Given the description of an element on the screen output the (x, y) to click on. 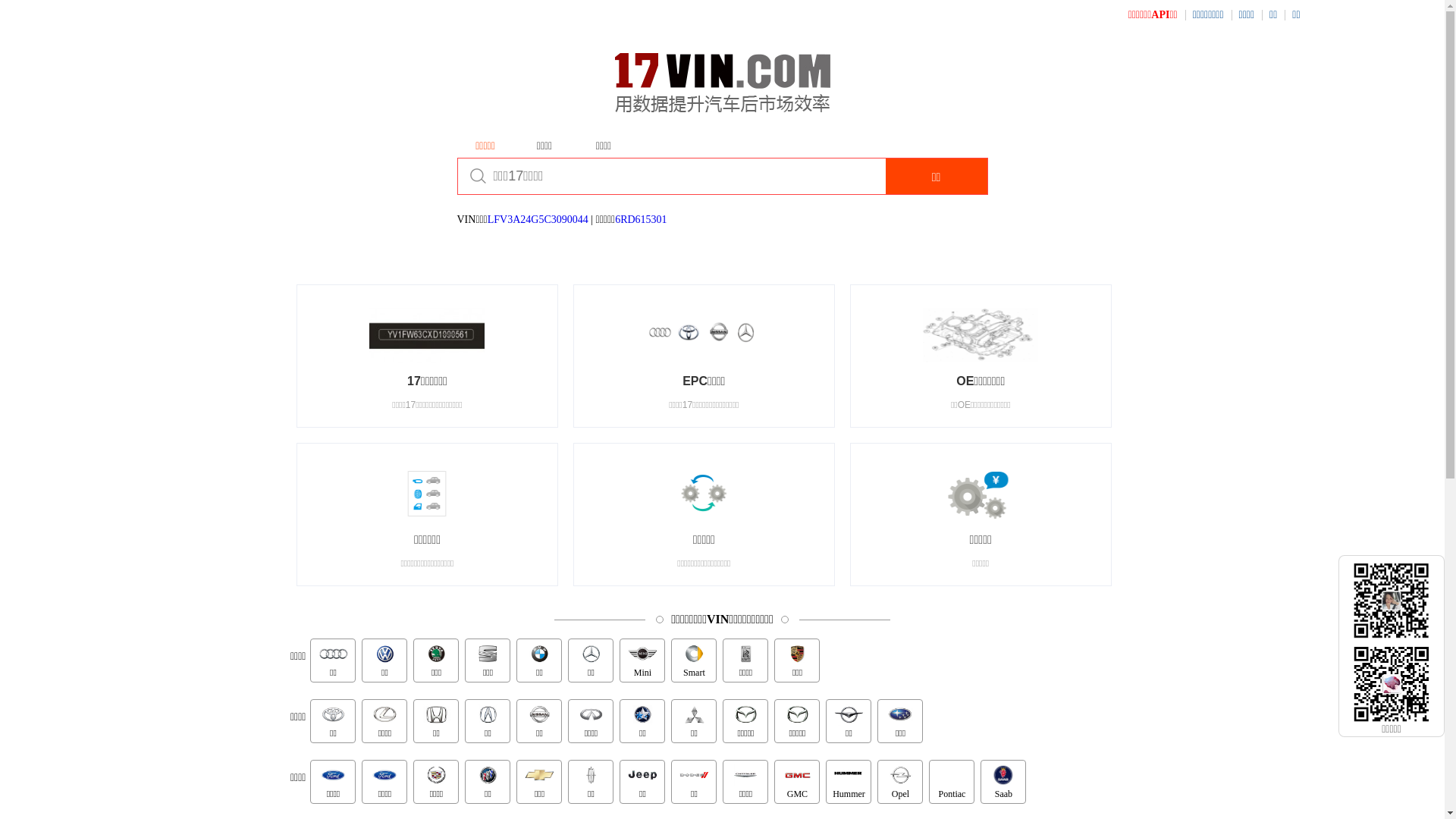
Smart Element type: text (693, 660)
Opel Element type: text (899, 781)
Saab Element type: text (1003, 781)
Hummer Element type: text (848, 781)
LFV3A24G5C3090044 Element type: text (537, 219)
6RD615301 Element type: text (640, 219)
17vin Element type: text (721, 88)
Mini Element type: text (642, 660)
GMC Element type: text (796, 781)
Pontiac Element type: text (951, 781)
